Given the description of an element on the screen output the (x, y) to click on. 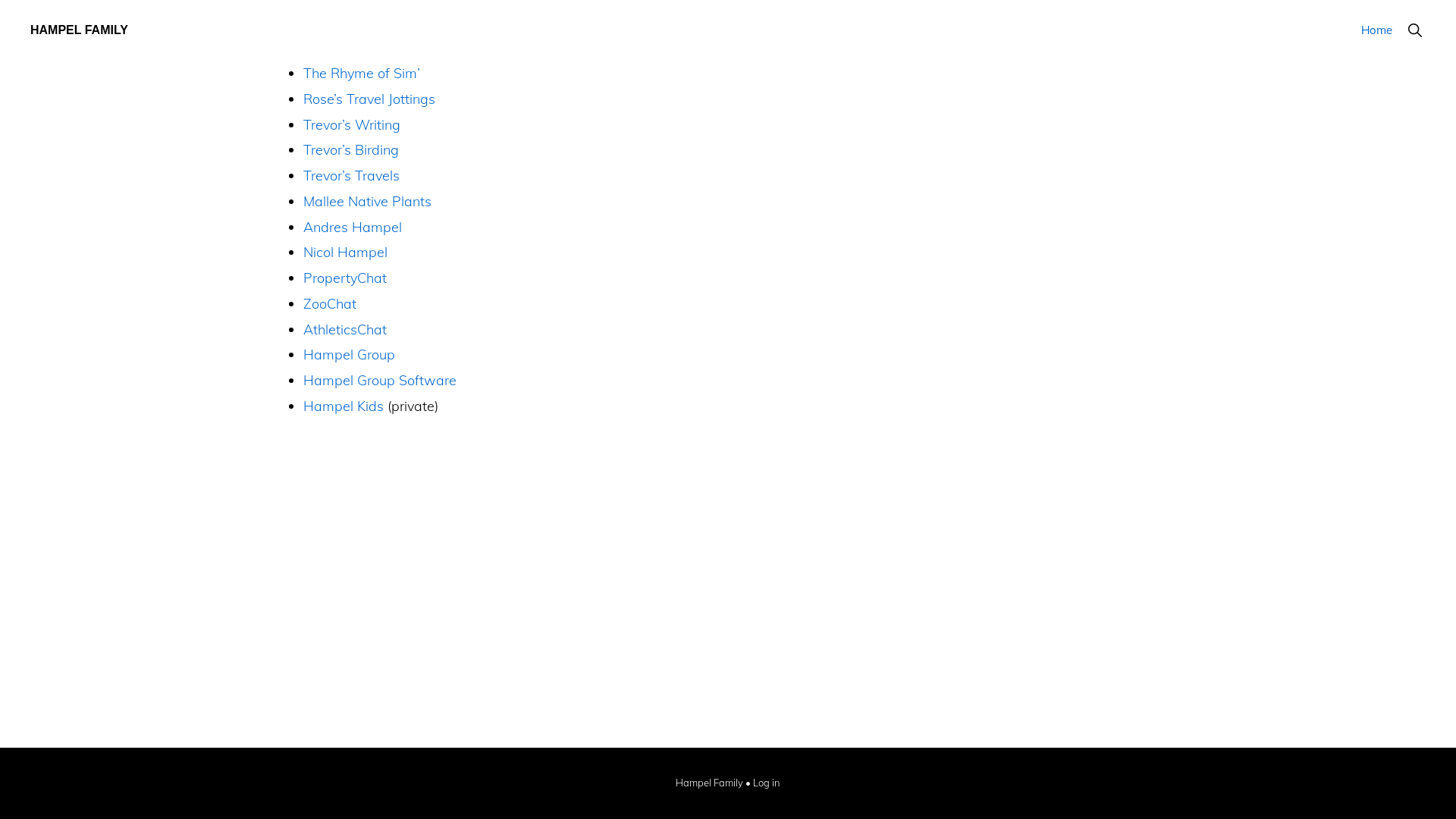
Log in Element type: text (766, 783)
Hampel Group Element type: text (349, 354)
AthleticsChat Element type: text (344, 329)
Andres Hampel Element type: text (352, 226)
Home Element type: text (1376, 29)
Hampel Kids Element type: text (343, 405)
ZooChat Element type: text (329, 303)
Mallee Native Plants Element type: text (367, 201)
HAMPEL FAMILY Element type: text (79, 29)
Nicol Hampel Element type: text (345, 251)
PropertyChat Element type: text (344, 277)
Show Search Element type: text (1414, 29)
Hampel Group Software Element type: text (379, 380)
Hampel Family Element type: text (709, 783)
Skip to primary navigation Element type: text (0, 0)
